Given the description of an element on the screen output the (x, y) to click on. 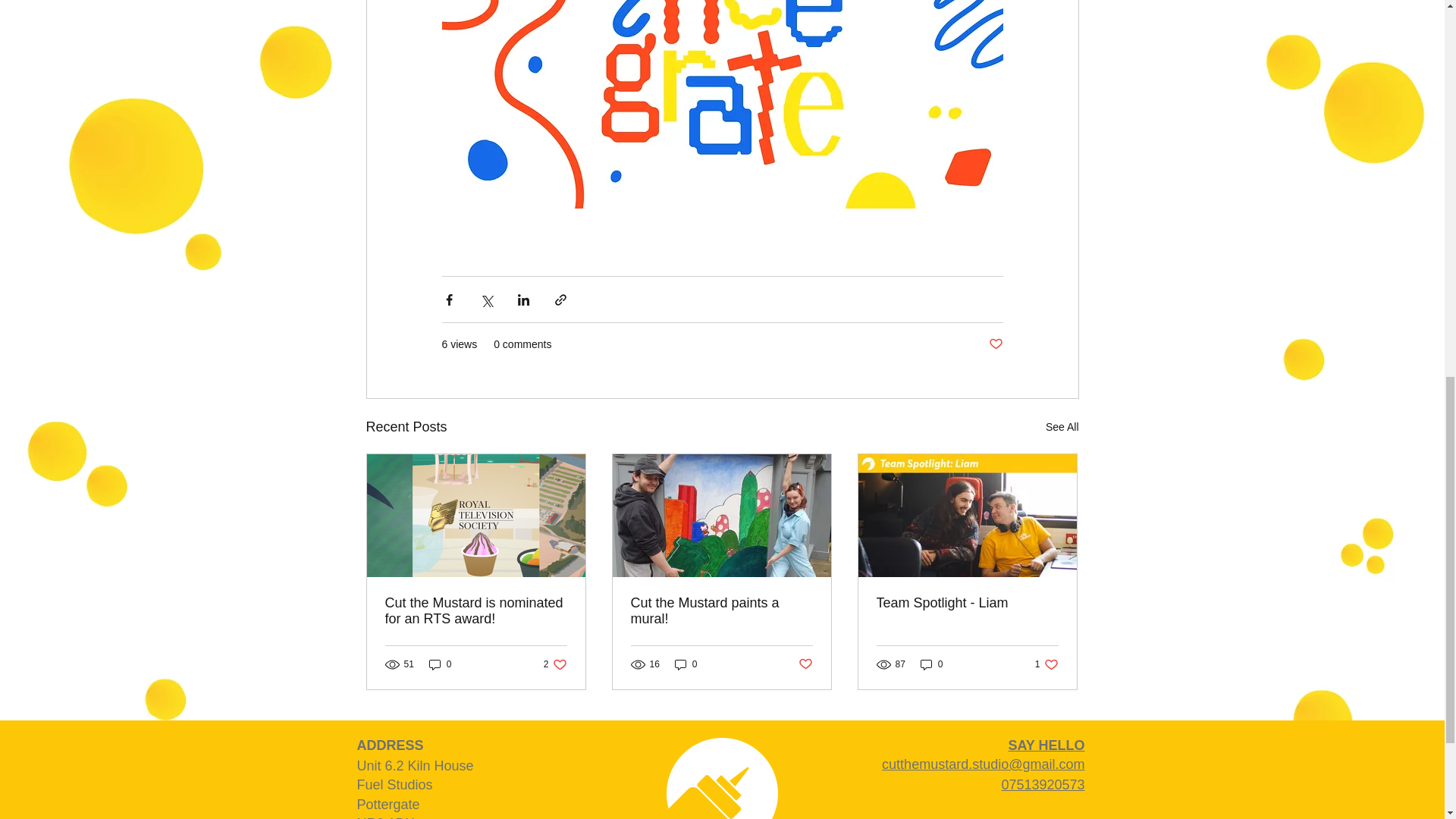
0 (440, 664)
Post not marked as liked (995, 344)
SAY HELLO (1045, 744)
0 (931, 664)
Team Spotlight - Liam (967, 602)
0 (1046, 664)
Cut the Mustard paints a mural! (685, 664)
Cut the Mustard is nominated for an RTS award! (721, 611)
See All (476, 611)
